Given the description of an element on the screen output the (x, y) to click on. 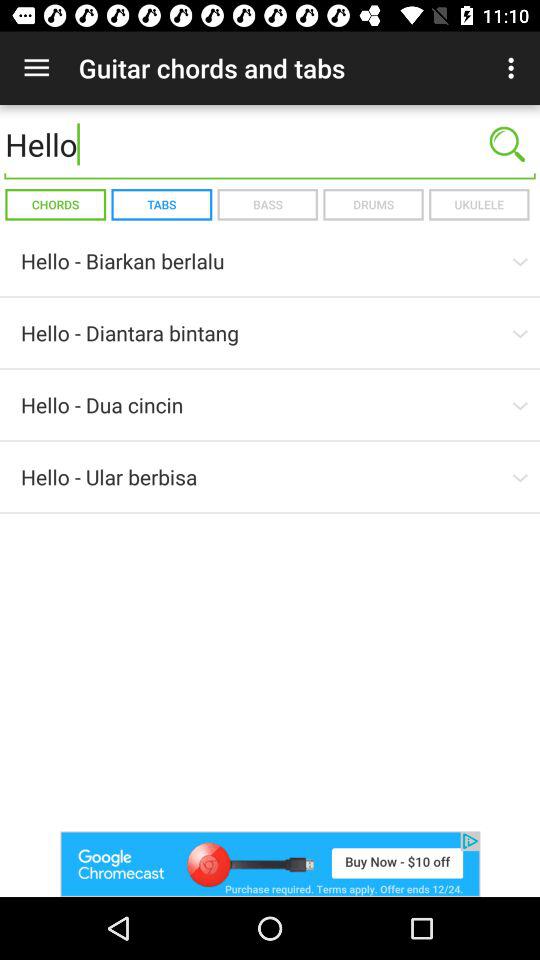
search (507, 144)
